Given the description of an element on the screen output the (x, y) to click on. 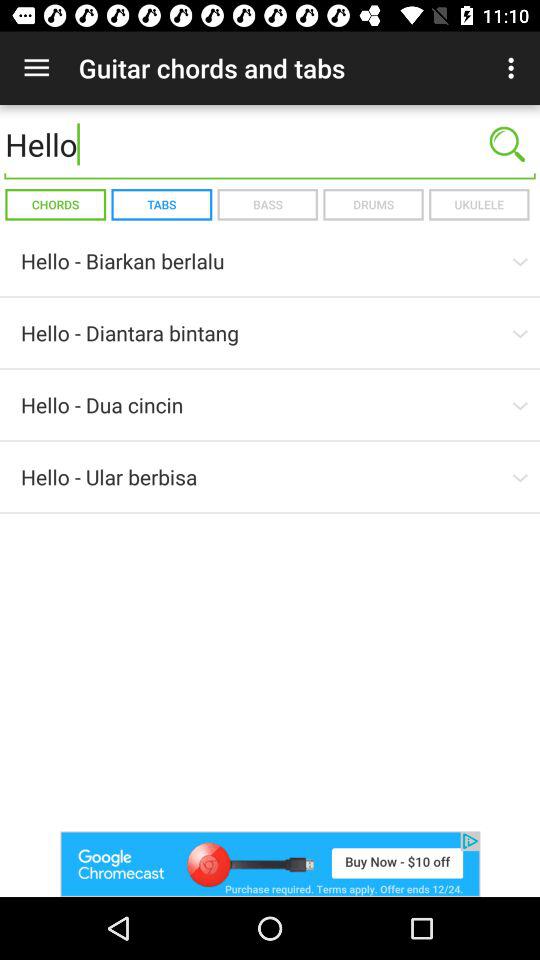
search (507, 144)
